Given the description of an element on the screen output the (x, y) to click on. 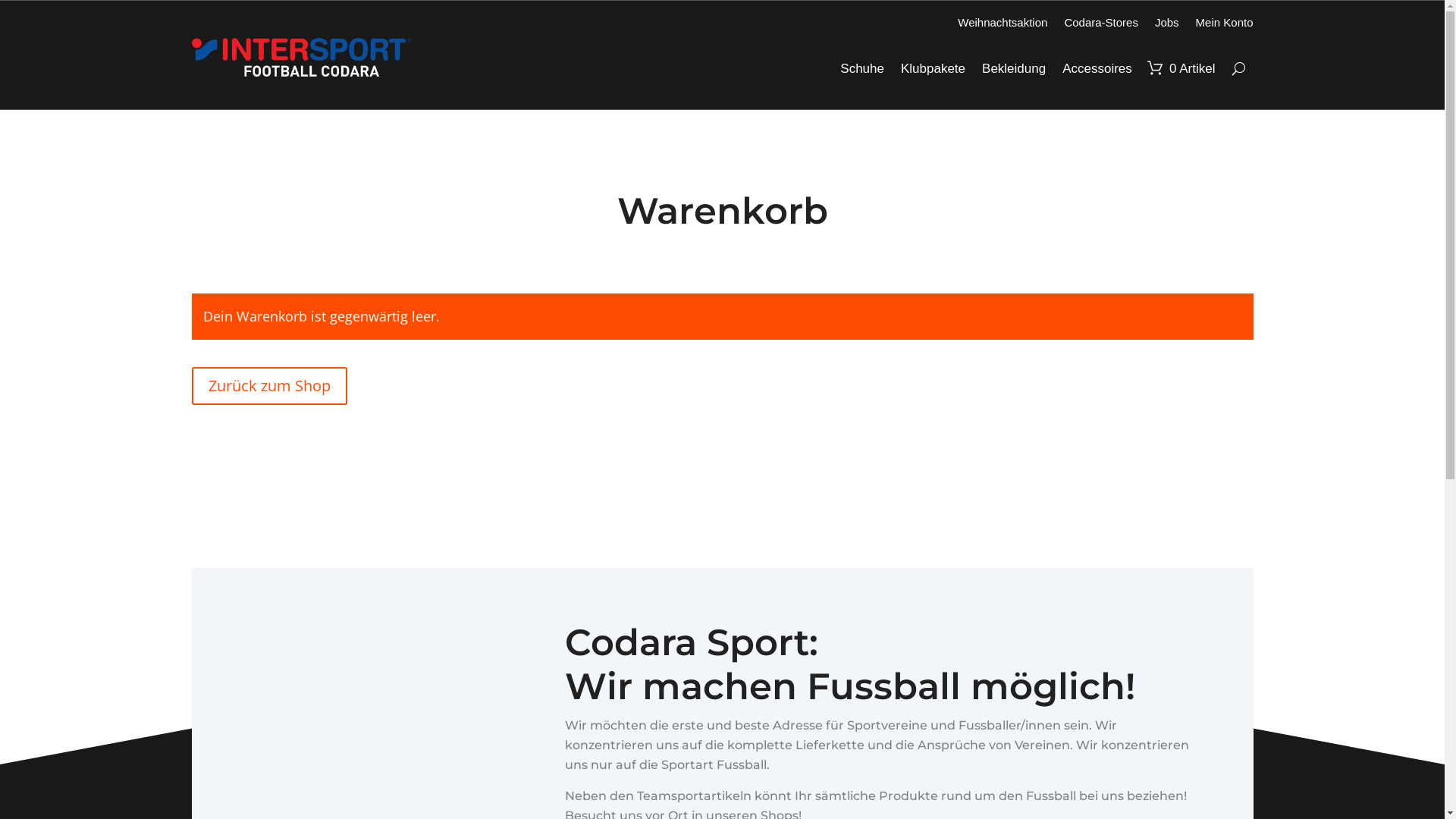
Weihnachtsaktion Element type: text (1002, 25)
0 Artikel Element type: text (1181, 68)
Codara-Stores Element type: text (1100, 25)
Bekleidung Element type: text (1013, 68)
Klubpakete Element type: text (932, 68)
Accessoires Element type: text (1097, 68)
Schuhe Element type: text (862, 68)
Mein Konto Element type: text (1224, 25)
Jobs Element type: text (1166, 25)
